Given the description of an element on the screen output the (x, y) to click on. 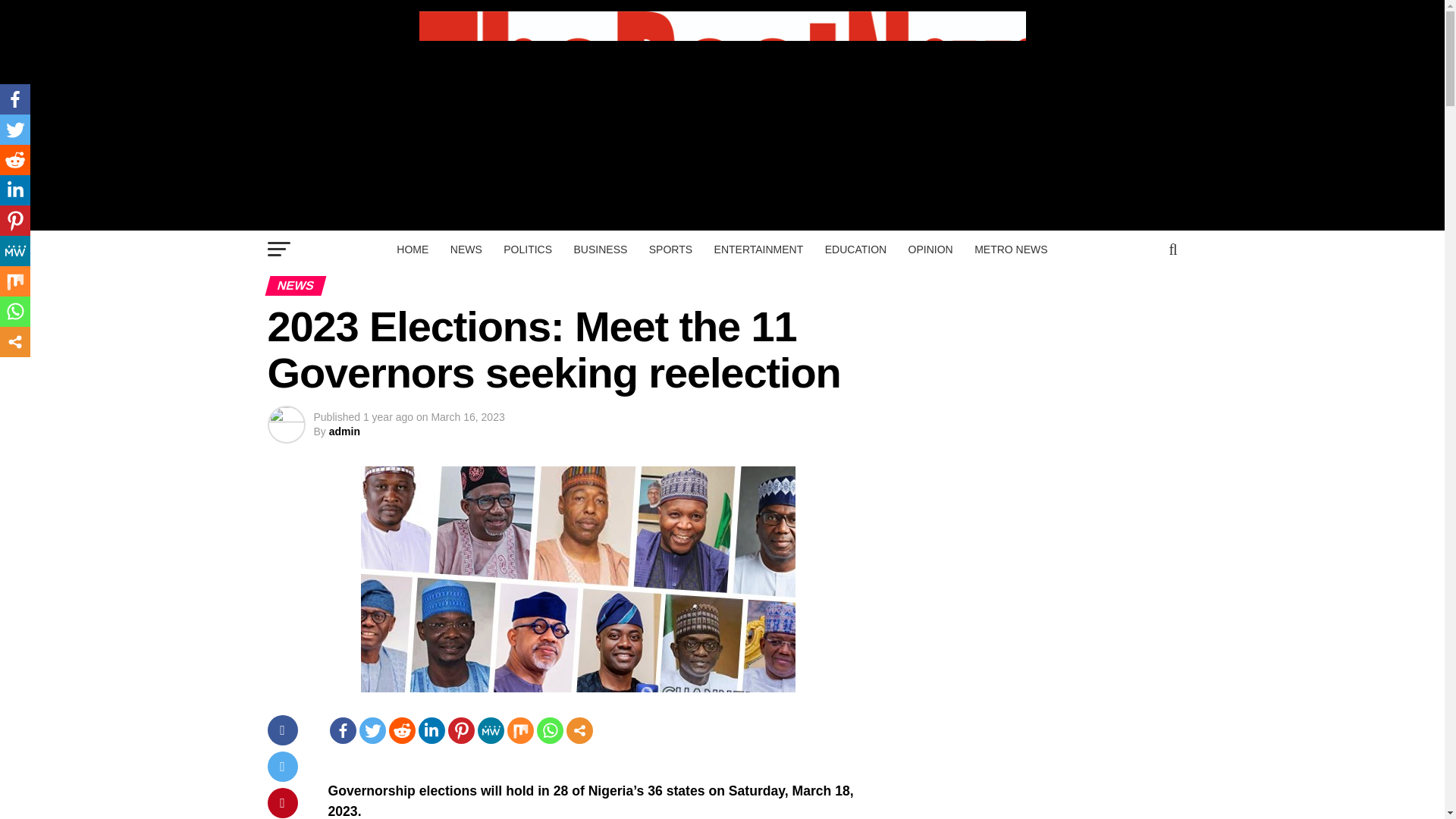
Twitter (372, 730)
EDUCATION (855, 249)
NEWS (466, 249)
Linkedin (432, 730)
Whatsapp (550, 730)
Pinterest (460, 730)
Posts by admin (344, 431)
HOME (412, 249)
admin (344, 431)
SPORTS (670, 249)
OPINION (930, 249)
MeWe (490, 730)
METRO NEWS (1011, 249)
More (579, 730)
BUSINESS (600, 249)
